Given the description of an element on the screen output the (x, y) to click on. 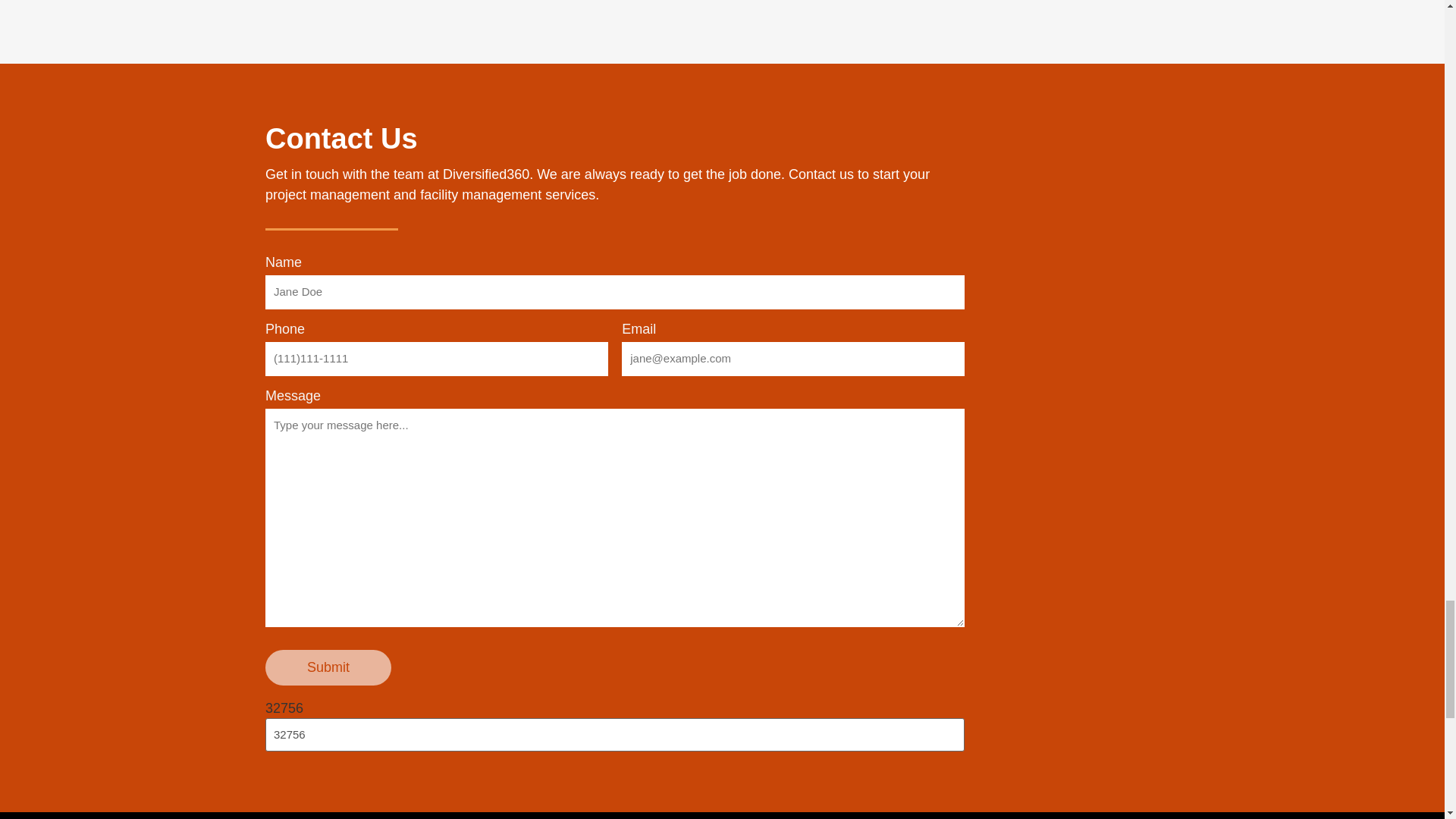
Submit (327, 667)
Submit (327, 667)
32756 (613, 735)
